Given the description of an element on the screen output the (x, y) to click on. 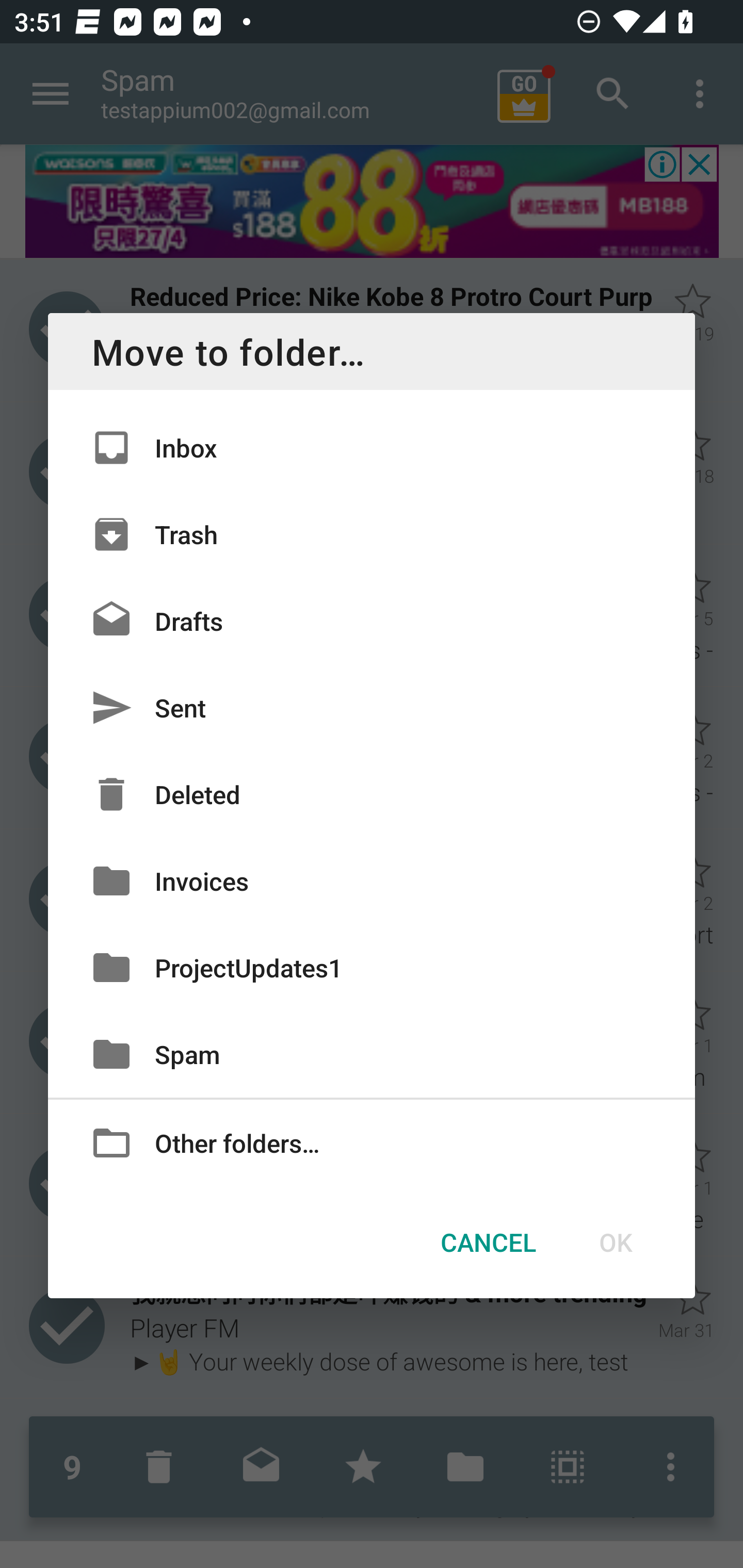
Inbox (371, 447)
Trash (371, 533)
Drafts (371, 620)
Sent (371, 707)
Deleted (371, 794)
Invoices (371, 880)
ProjectUpdates1 (371, 967)
Spam (371, 1054)
Other folders… (371, 1141)
CANCEL (488, 1241)
OK (615, 1241)
